Given the description of an element on the screen output the (x, y) to click on. 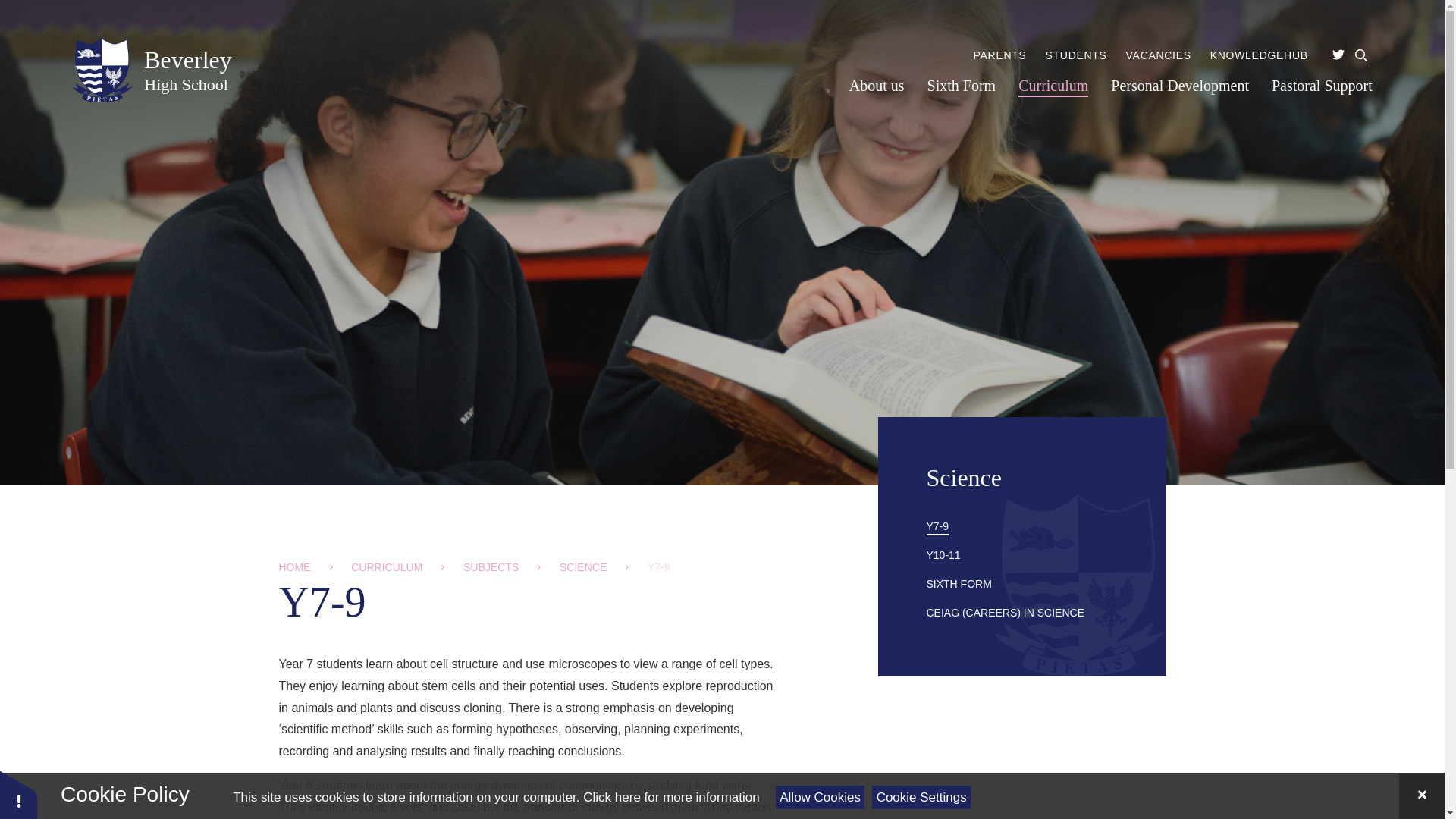
Cookie Settings (151, 69)
Allow Cookies (921, 797)
About us (820, 797)
Sixth Form (876, 85)
Twitter (961, 85)
See cookie policy (1337, 55)
